Given the description of an element on the screen output the (x, y) to click on. 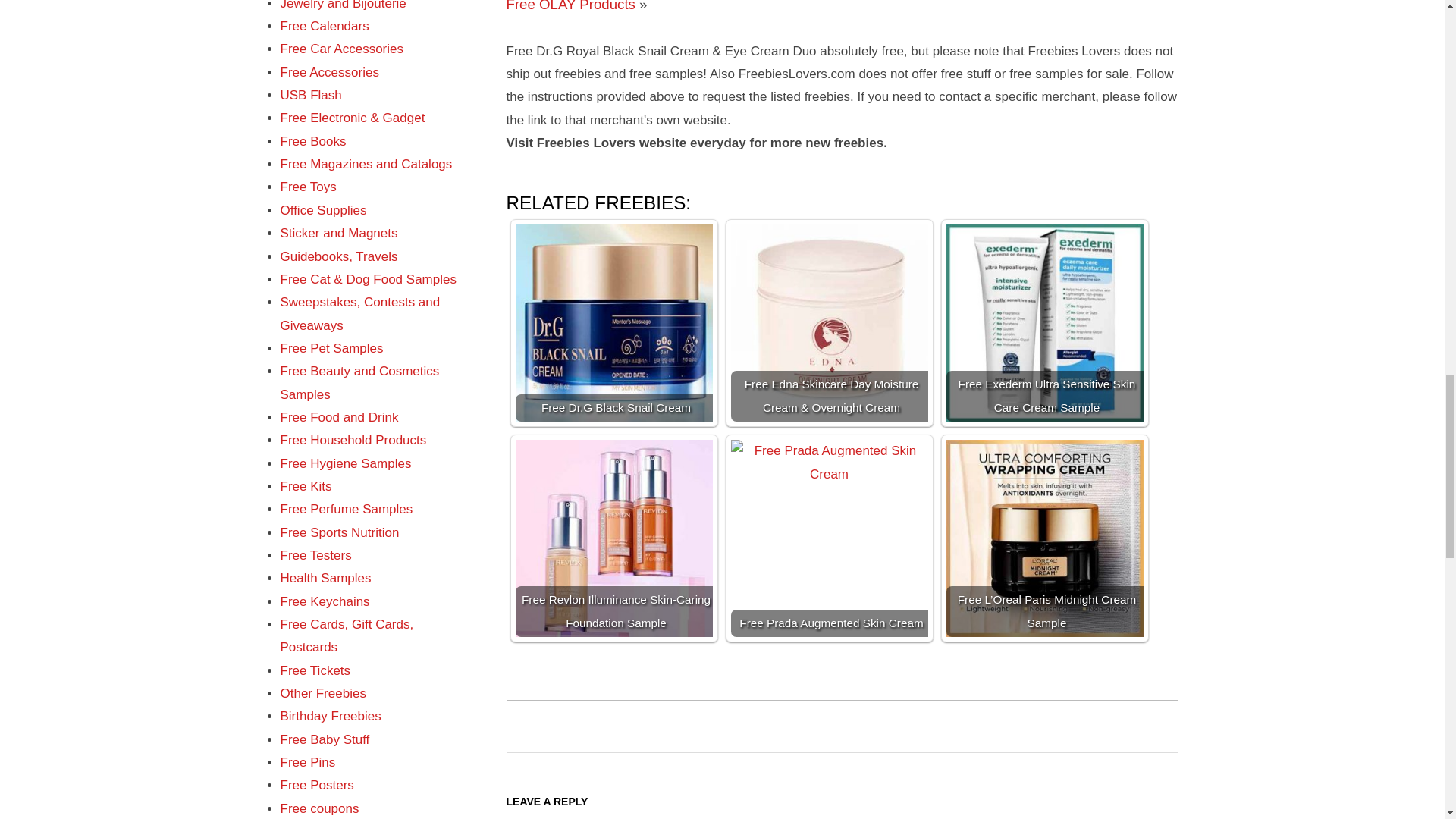
Free Dr.G Black Snail Cream (614, 322)
Free Exederm Ultra Sensitive Skin Care Cream Sample (1044, 322)
Free Exederm Ultra Sensitive Skin Care Cream Sample (1044, 322)
Free Revlon Illuminance Skin-Caring Foundation Sample (614, 538)
Free Dr.G Black Snail Cream (614, 322)
Free OLAY Products (570, 6)
Jewelry and Bijouterie (343, 5)
Free Prada Augmented Skin Cream (829, 538)
Free Prada Augmented Skin Cream (829, 538)
Free Car Accessories (342, 48)
